Given the description of an element on the screen output the (x, y) to click on. 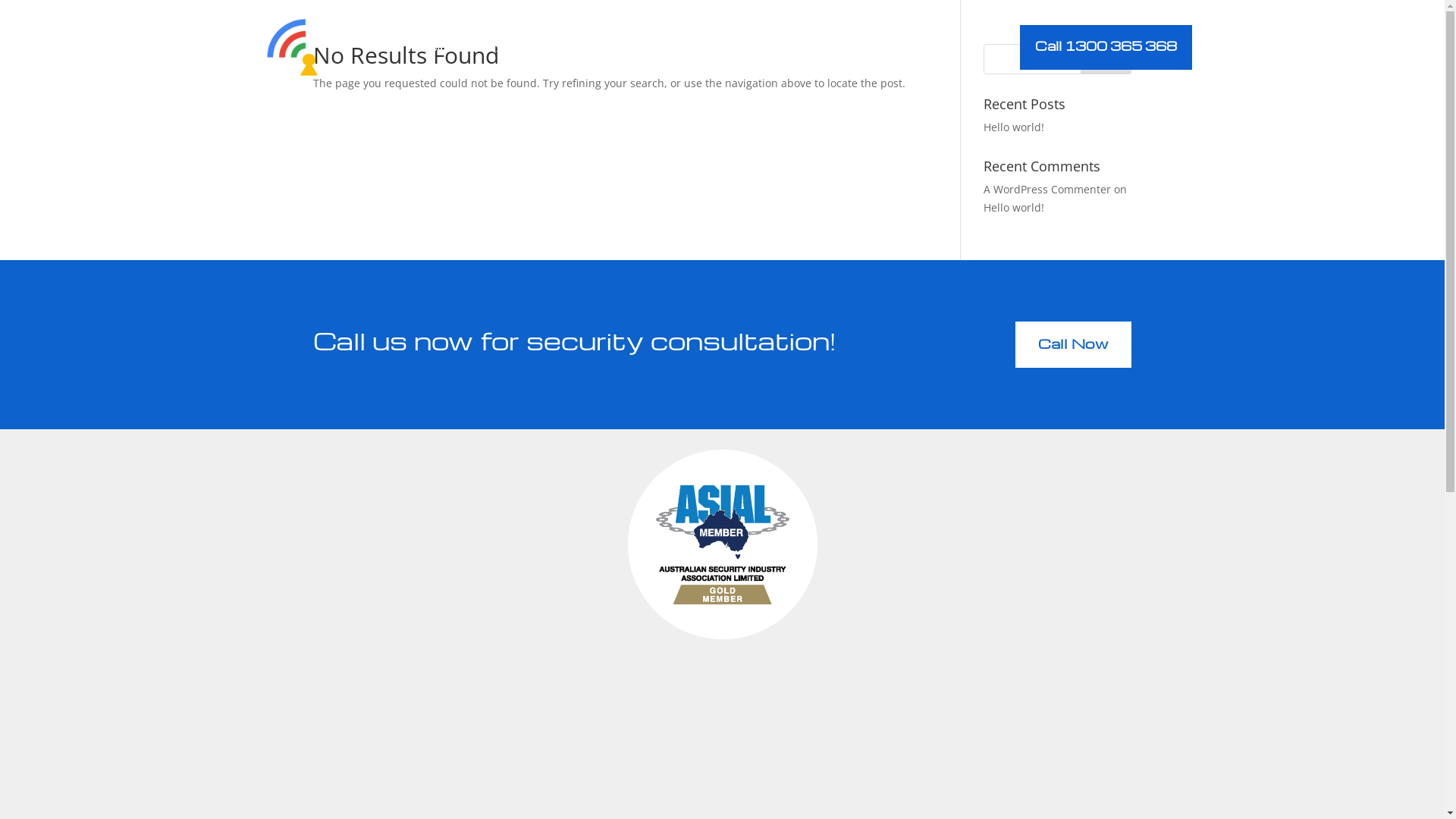
Hello world! Element type: text (1013, 207)
Call Now Element type: text (1073, 344)
HOME Element type: text (429, 47)
INFORMATION Element type: text (753, 47)
CONTACT US Element type: text (846, 47)
Search Element type: text (1106, 58)
BUSINESS SECURITY Element type: text (635, 47)
Call 1300 365 368 Element type: text (1105, 47)
A WordPress Commenter Element type: text (1046, 189)
image_stack_img-473 Element type: hover (722, 544)
Hello world! Element type: text (1013, 126)
HOME SECURITY Element type: text (511, 47)
